Given the description of an element on the screen output the (x, y) to click on. 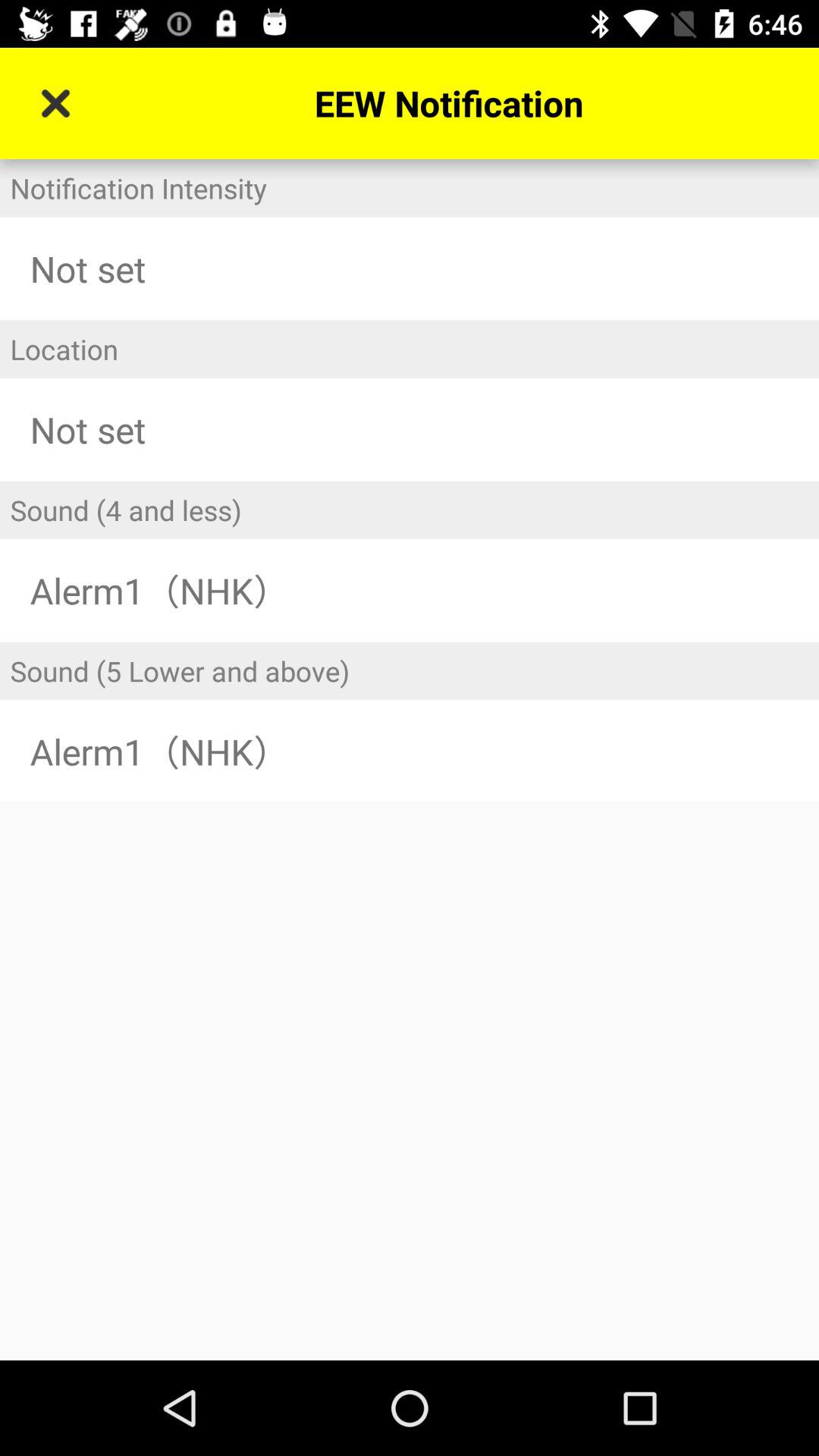
open the icon at the top left corner (55, 103)
